Given the description of an element on the screen output the (x, y) to click on. 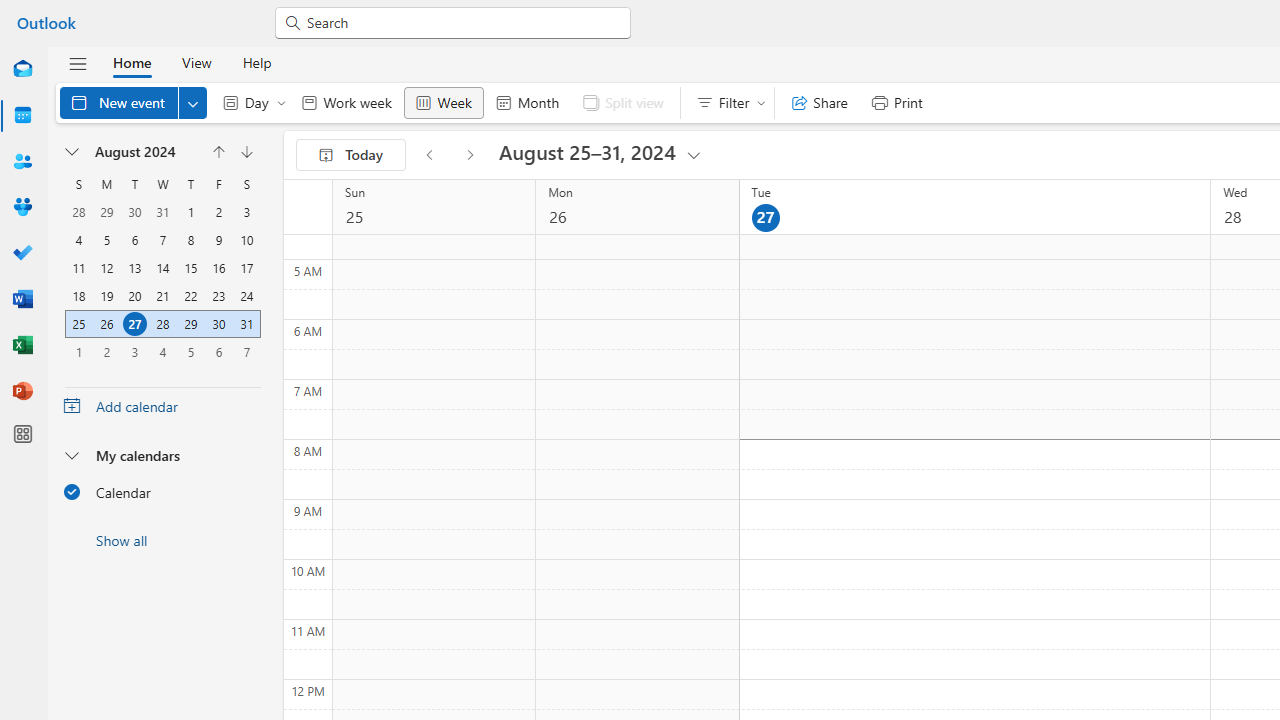
5, September, 2024 (191, 351)
4, August, 2024 (78, 239)
Calendar (22, 115)
28, July, 2024 (78, 211)
My calendarsCalendar (162, 479)
31, July, 2024 (162, 212)
8, August, 2024 (191, 239)
30, August, 2024 (218, 323)
6, September, 2024 (218, 351)
17, August, 2024 (246, 268)
Day (249, 102)
Wednesday (162, 183)
More apps (22, 434)
27, August, 2024 (134, 323)
7, August, 2024 (163, 239)
